Given the description of an element on the screen output the (x, y) to click on. 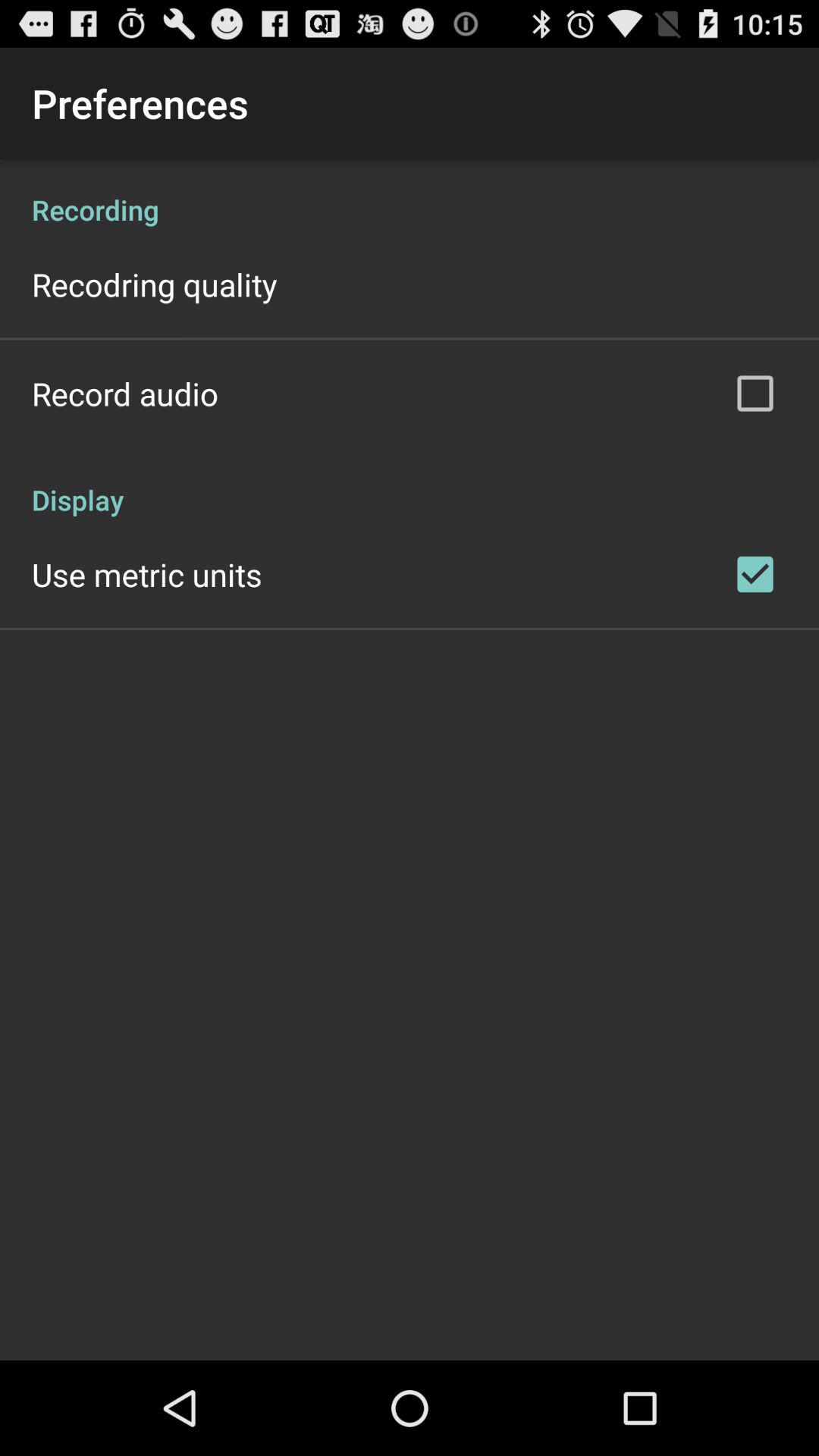
launch item below the display app (146, 574)
